Given the description of an element on the screen output the (x, y) to click on. 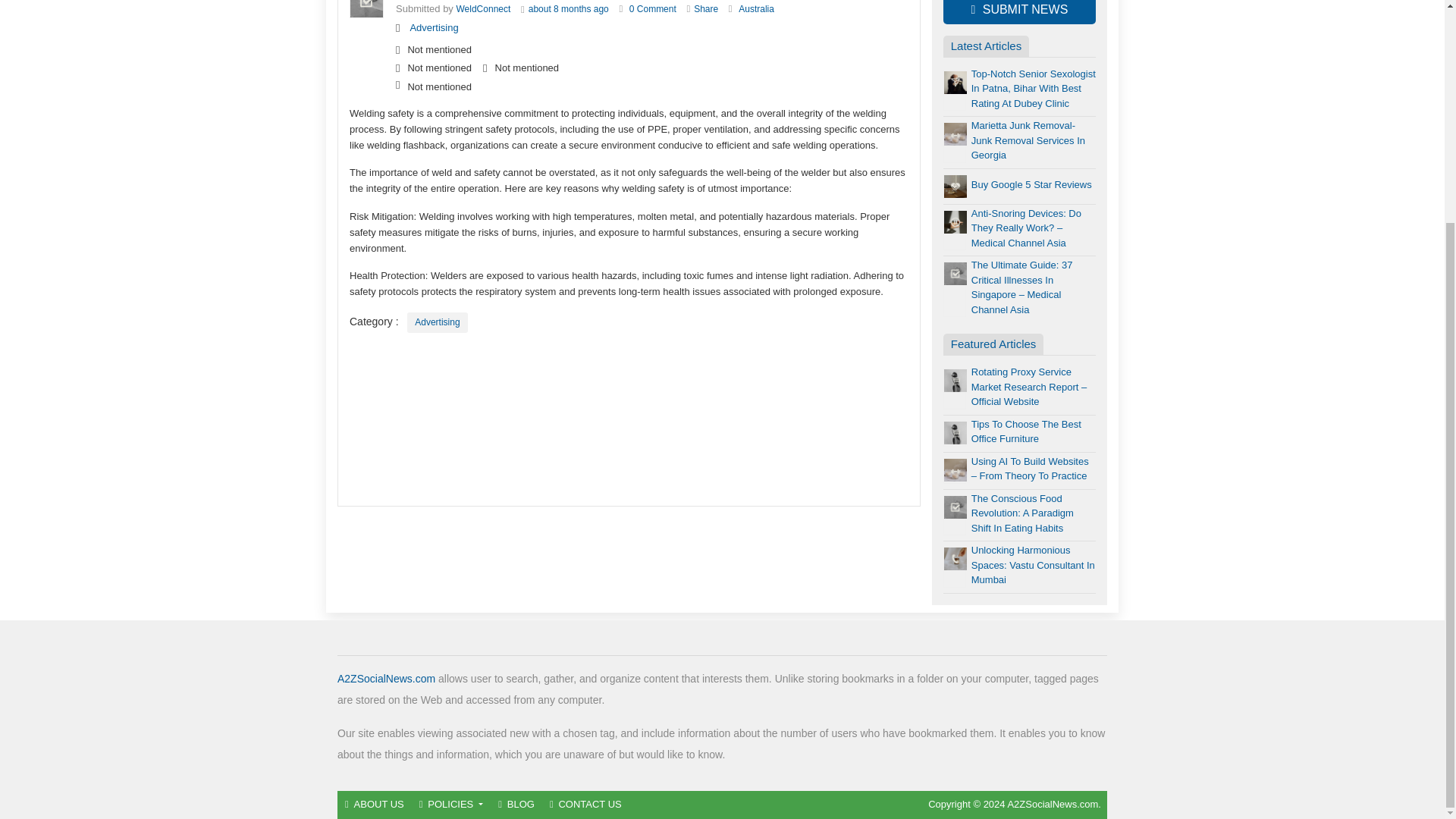
about 8 months ago (568, 9)
Advertising (437, 322)
Advertising (437, 322)
Marietta Junk Removal- Junk Removal Services In Georgia (1027, 139)
Australia (756, 9)
Share (705, 9)
about 8 months ago (568, 9)
Advertising (433, 27)
Advertising (433, 27)
Share (705, 9)
